Given the description of an element on the screen output the (x, y) to click on. 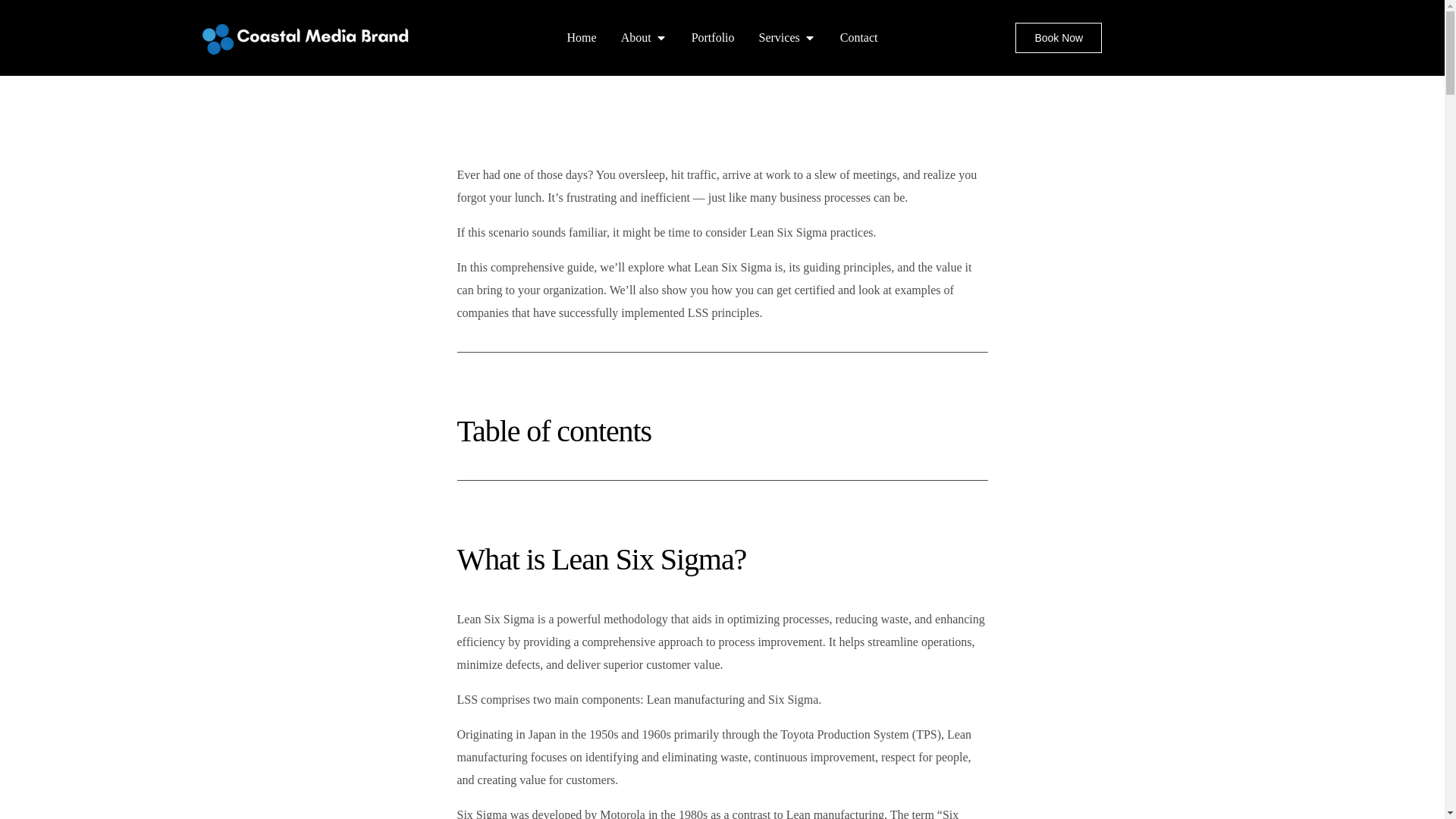
Portfolio (713, 37)
Services (778, 37)
Contact (858, 37)
Home (581, 37)
Book Now (1058, 37)
About (635, 37)
